Given the description of an element on the screen output the (x, y) to click on. 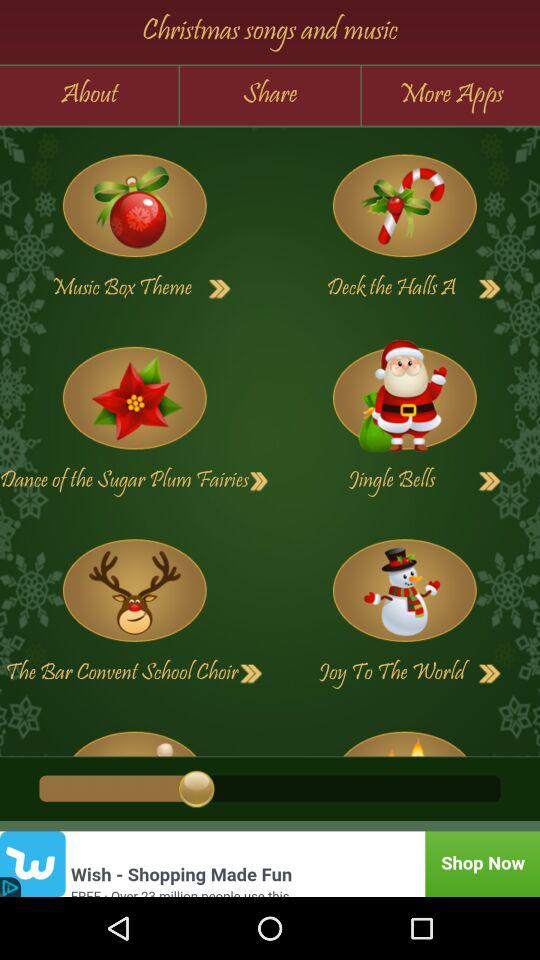
play the specified song (404, 205)
